Given the description of an element on the screen output the (x, y) to click on. 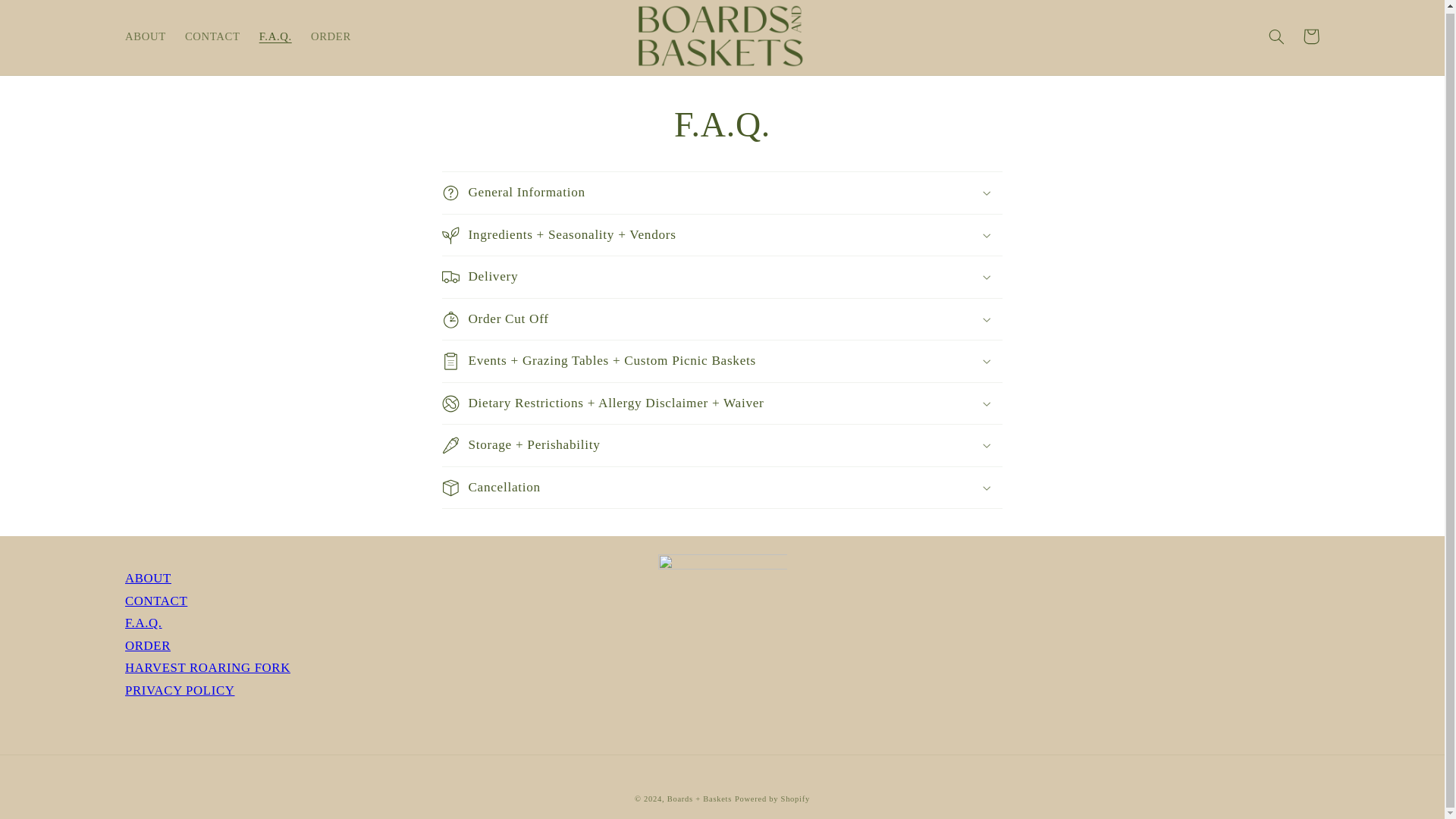
Privacy Policy (179, 690)
Powered by Shopify (772, 798)
CONTACT (211, 36)
PRIVACY POLICY (179, 690)
ABOUT (144, 36)
F.A.Q. (143, 622)
ORDER (330, 36)
F.A.Q. (274, 36)
CONTACT (156, 600)
ABOUT (148, 577)
